Given the description of an element on the screen output the (x, y) to click on. 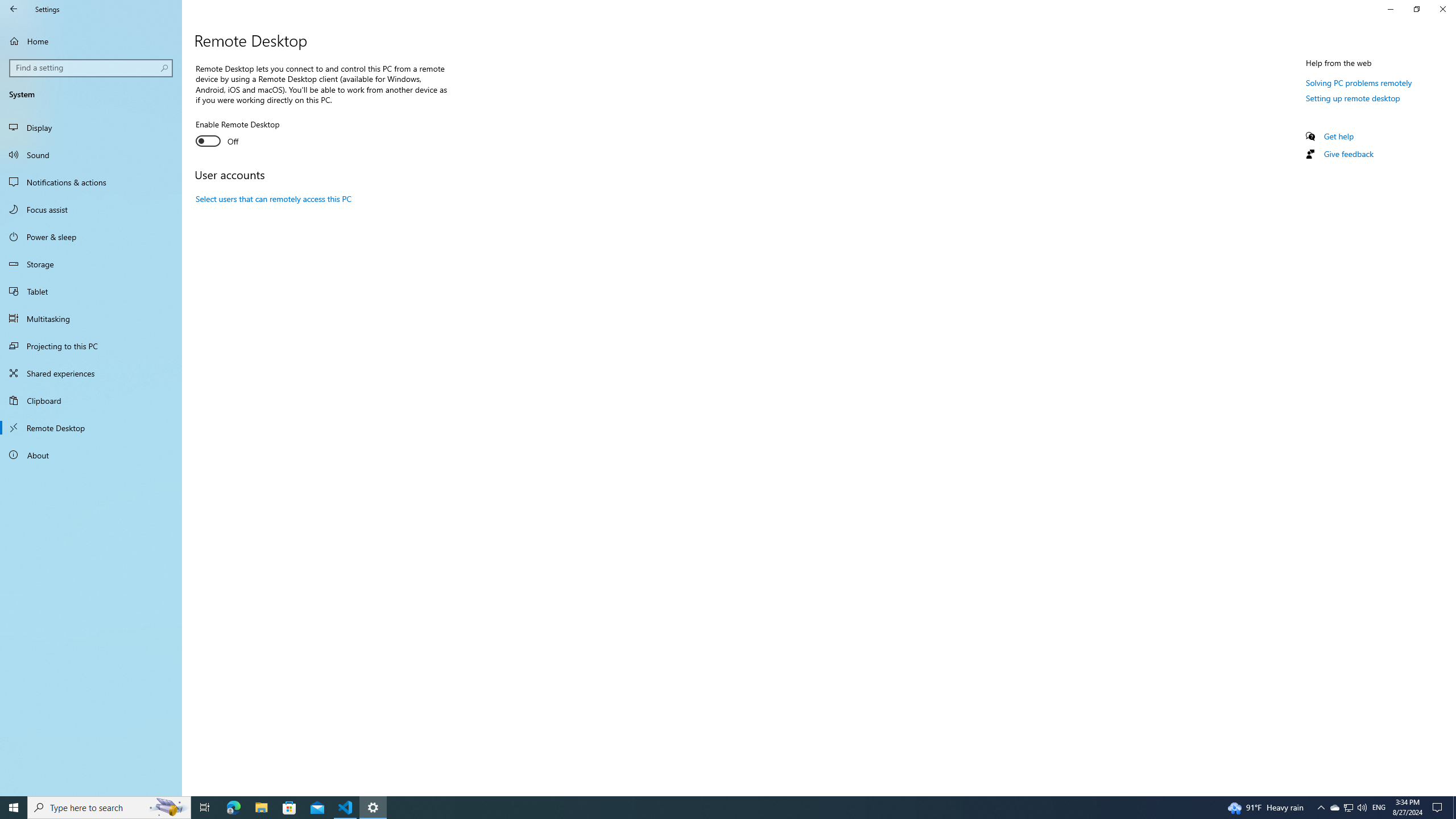
Type here to search (108, 807)
Visual Studio Code - 1 running window (345, 807)
Give feedback (1348, 153)
File Explorer (261, 807)
Power & sleep (91, 236)
Multitasking (91, 318)
Enable Remote Desktop (237, 133)
Clipboard (91, 400)
Search highlights icon opens search home window (167, 807)
Task View (204, 807)
Notification Chevron (1320, 807)
Minimize Settings (1390, 9)
Restore Settings (1416, 9)
